Given the description of an element on the screen output the (x, y) to click on. 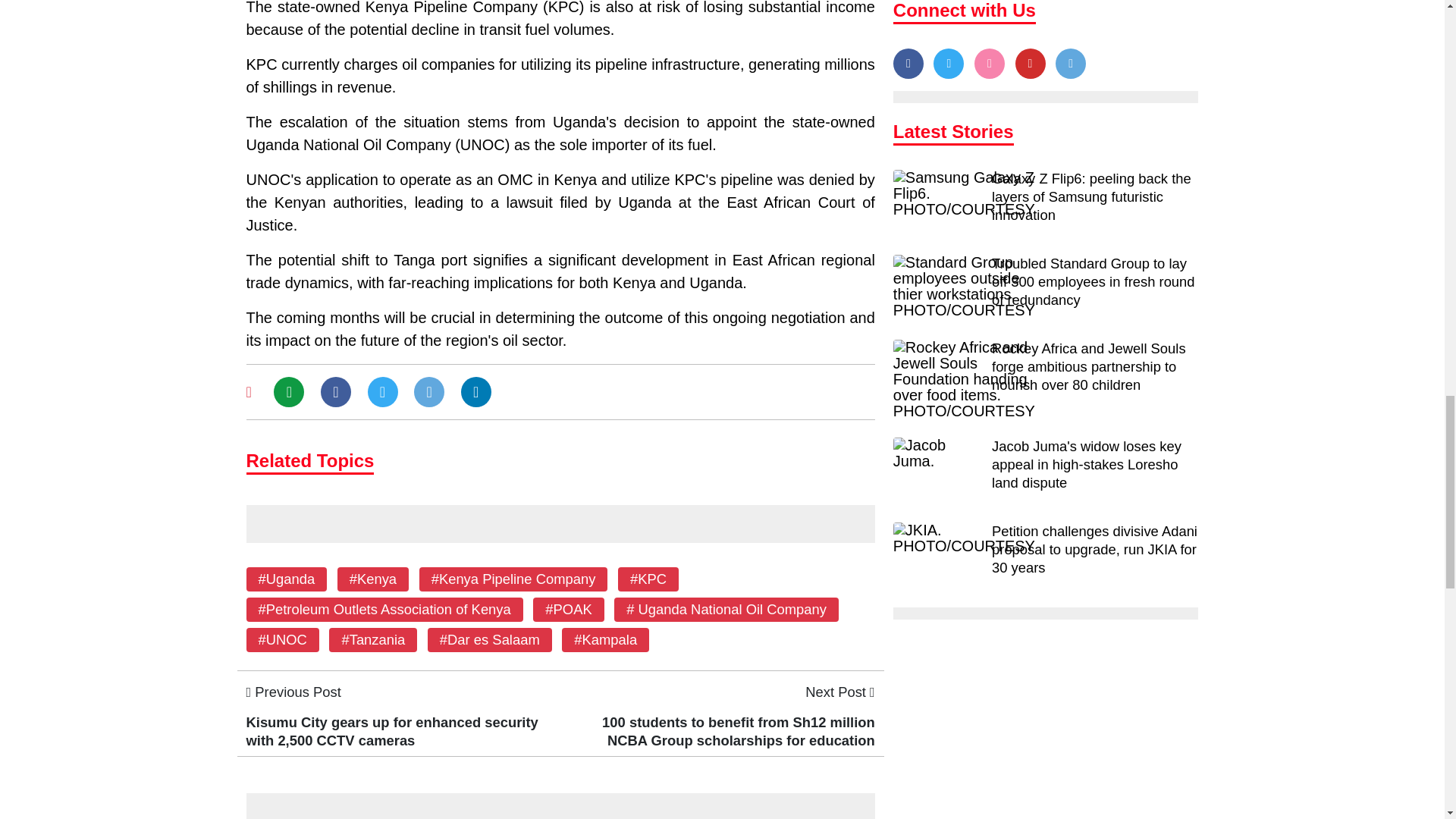
Share via Whatsapp (288, 392)
Share via Twitter (381, 392)
Topic: KPC (648, 578)
Topic: Uganda  (285, 578)
Share via Telegram (428, 392)
Topic: Kenya Pipeline Company (512, 578)
Share via Linked (476, 392)
Share via Facebook (335, 392)
Topic: Kenya (372, 578)
